Given the description of an element on the screen output the (x, y) to click on. 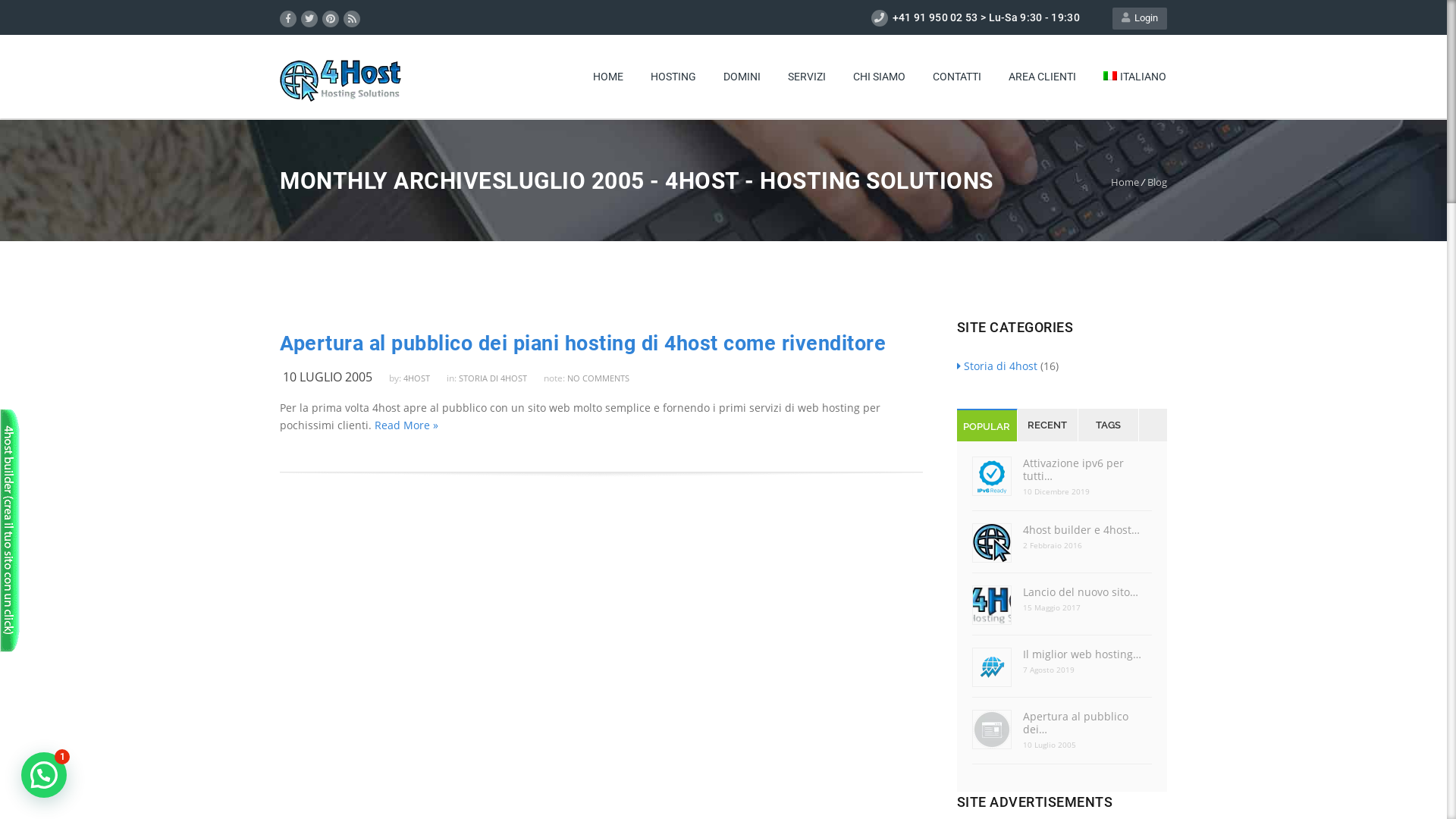
STORIA DI 4HOST Element type: text (499, 377)
SERVIZI Element type: text (806, 76)
HOSTING Element type: text (673, 76)
ITALIANO Element type: text (1134, 76)
Storia di 4host Element type: text (997, 365)
NO COMMENTS Element type: text (598, 377)
AREA CLIENTI Element type: text (1041, 76)
4HOST Element type: text (423, 377)
10 LUGLIO 2005 Element type: text (333, 376)
TAGS Element type: text (1108, 424)
CONTATTI Element type: text (956, 76)
Blog Element type: text (1157, 181)
RECENT Element type: text (1047, 424)
  Login Element type: text (1139, 18)
CHI SIAMO Element type: text (879, 76)
HOME Element type: text (608, 76)
Home Element type: text (1124, 181)
DOMINI Element type: text (741, 76)
POPULAR Element type: text (986, 425)
